Given the description of an element on the screen output the (x, y) to click on. 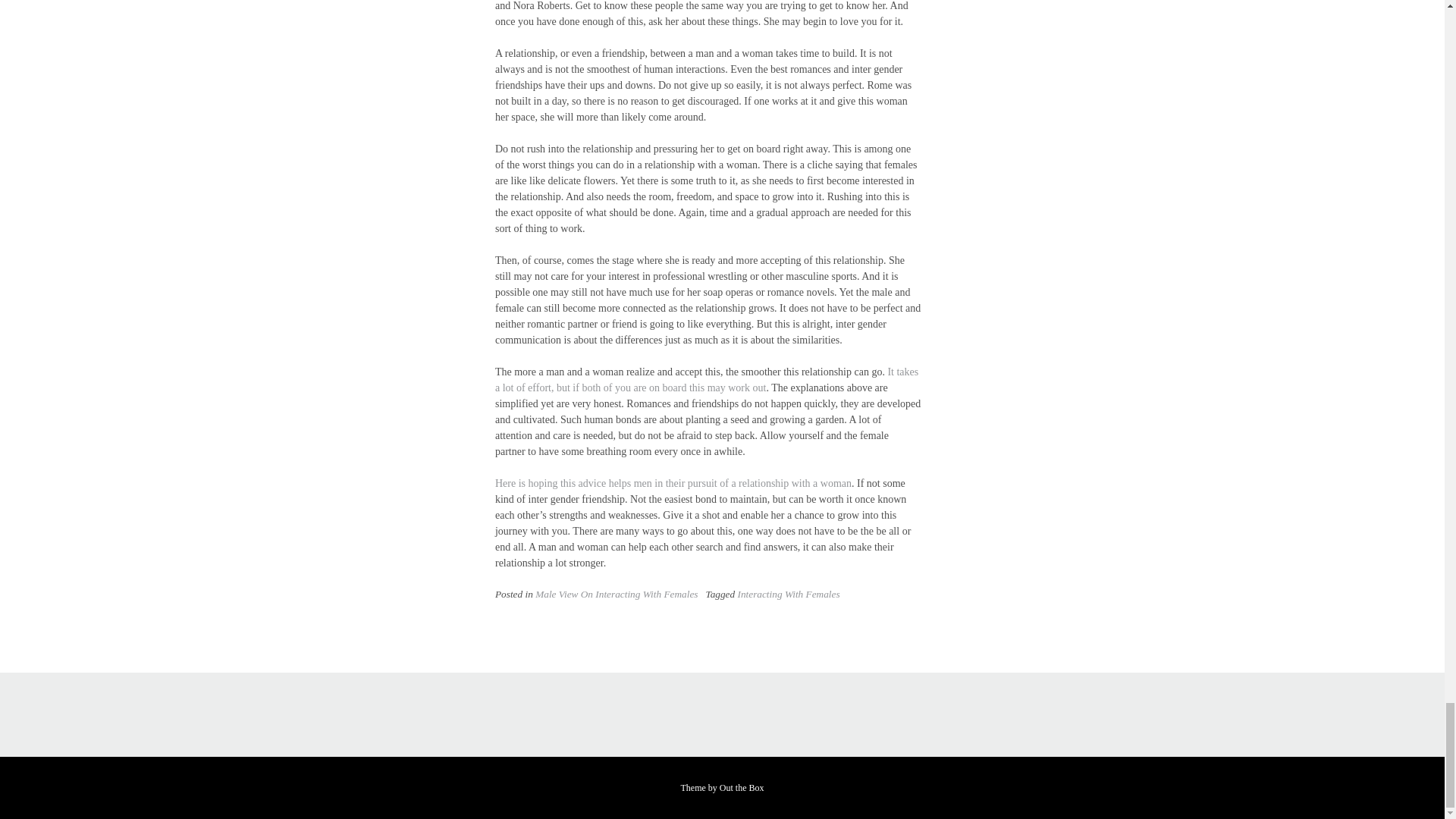
Interacting With Females (788, 593)
Male View On Interacting With Females (616, 593)
